Given the description of an element on the screen output the (x, y) to click on. 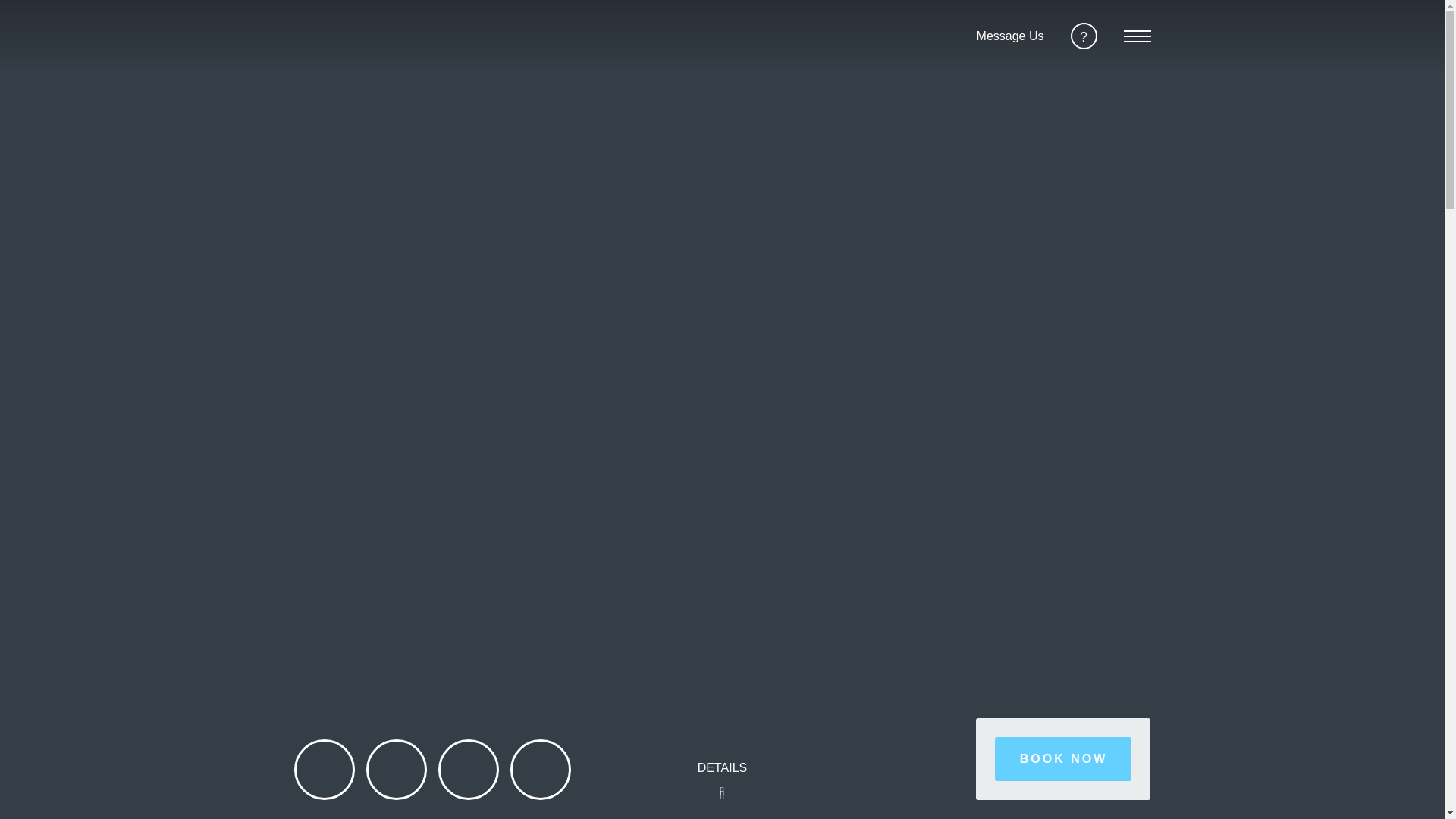
Hampel Properties (322, 35)
DETAILS (722, 784)
DETAILS (722, 784)
Message Us (1009, 36)
BOOK NOW (1062, 759)
? (1083, 35)
